Given the description of an element on the screen output the (x, y) to click on. 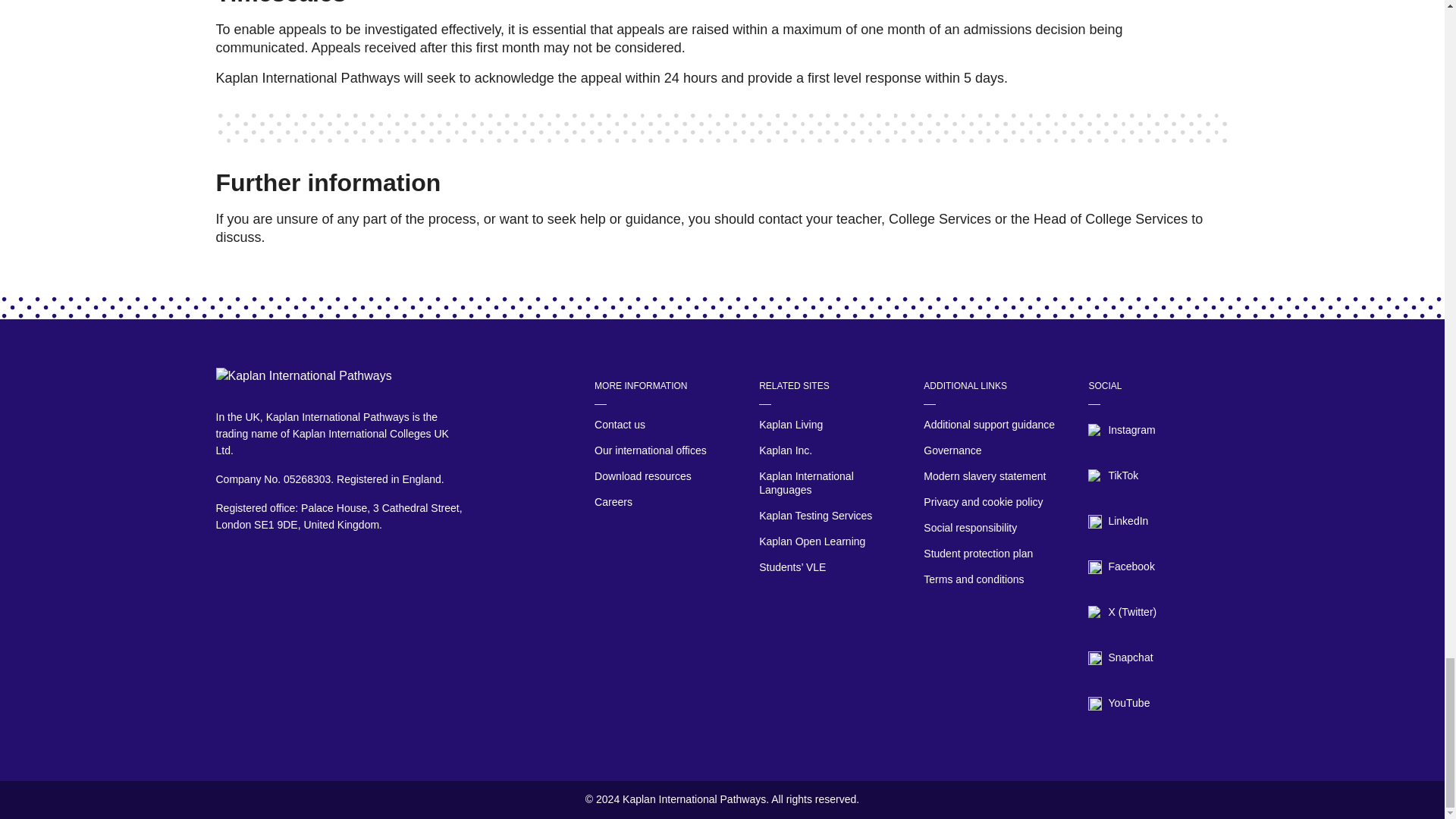
Kaplan Inc. (828, 450)
Kaplan Open Learning (828, 541)
Careers (664, 502)
Kaplan Testing Services (828, 516)
Contact us (664, 425)
Our international offices (664, 450)
Kaplan International Languages (828, 484)
Kaplan Living (828, 425)
Download resources (664, 477)
